Given the description of an element on the screen output the (x, y) to click on. 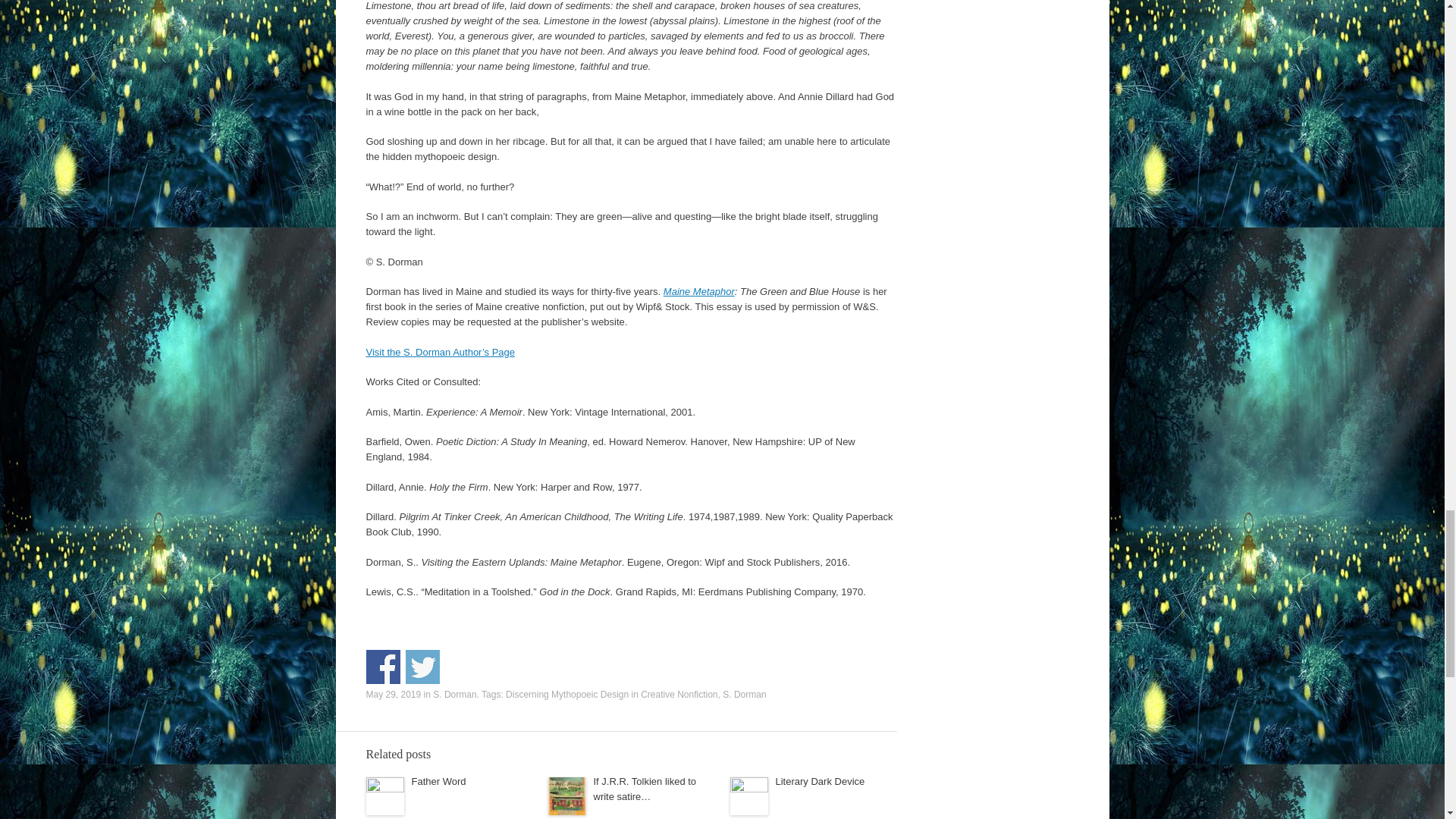
Share on Facebook (381, 666)
Share on Twitter (421, 666)
Permalink to Father Word (437, 781)
Literary Dark Device (819, 781)
May 29, 2019 (392, 694)
Permalink to Literary Dark Device (819, 781)
S. Dorman (743, 694)
S. Dorman (454, 694)
Discerning Mythopoeic Design in Creative Nonfiction (611, 694)
Father Word (437, 781)
